Given the description of an element on the screen output the (x, y) to click on. 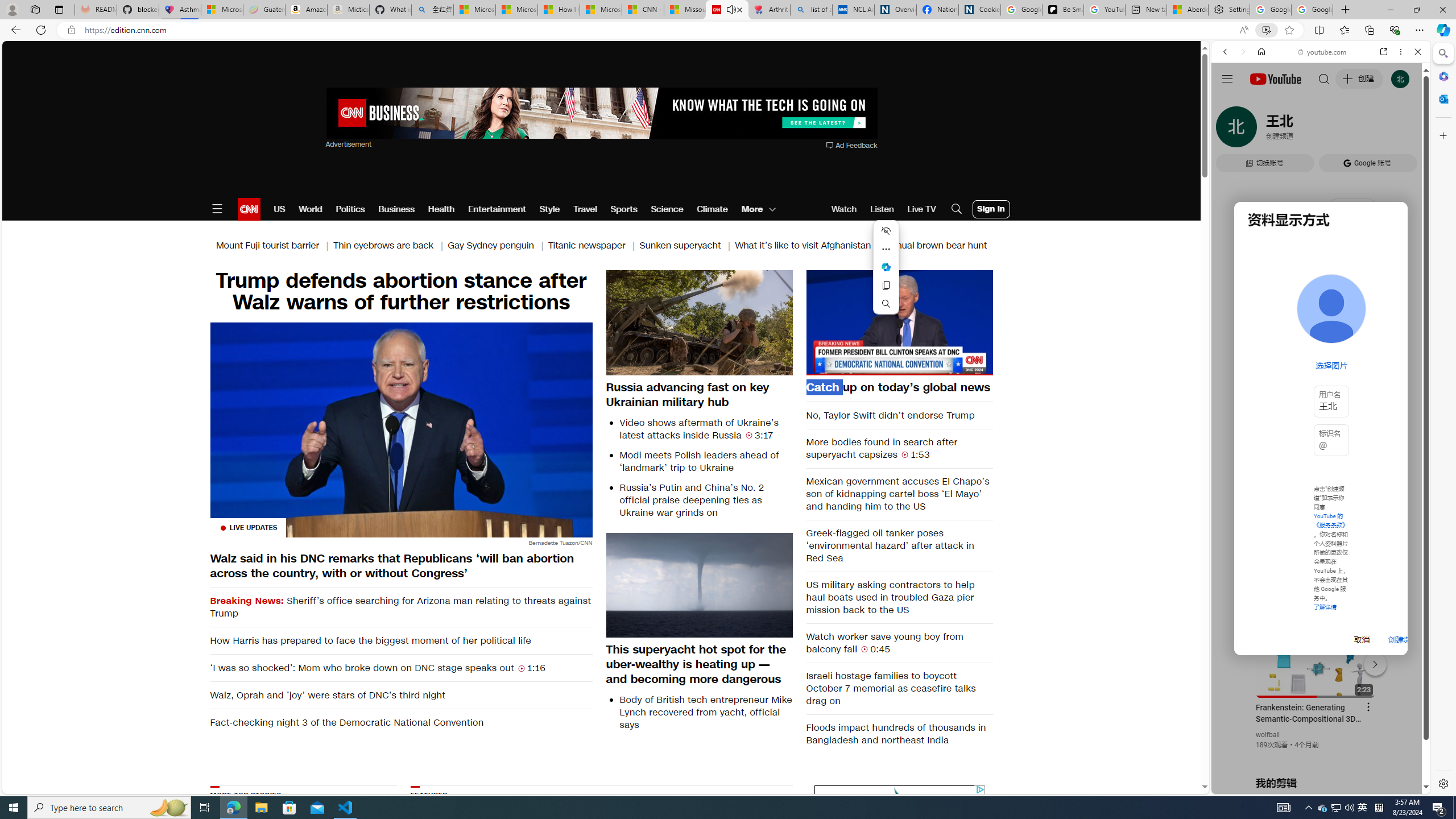
More bodies found in search after superyacht capsizes 1:53 (899, 448)
wolfball (1268, 734)
Backward 10 seconds (864, 322)
Russia advancing fast on key Ukrainian military hub (699, 394)
